Given the description of an element on the screen output the (x, y) to click on. 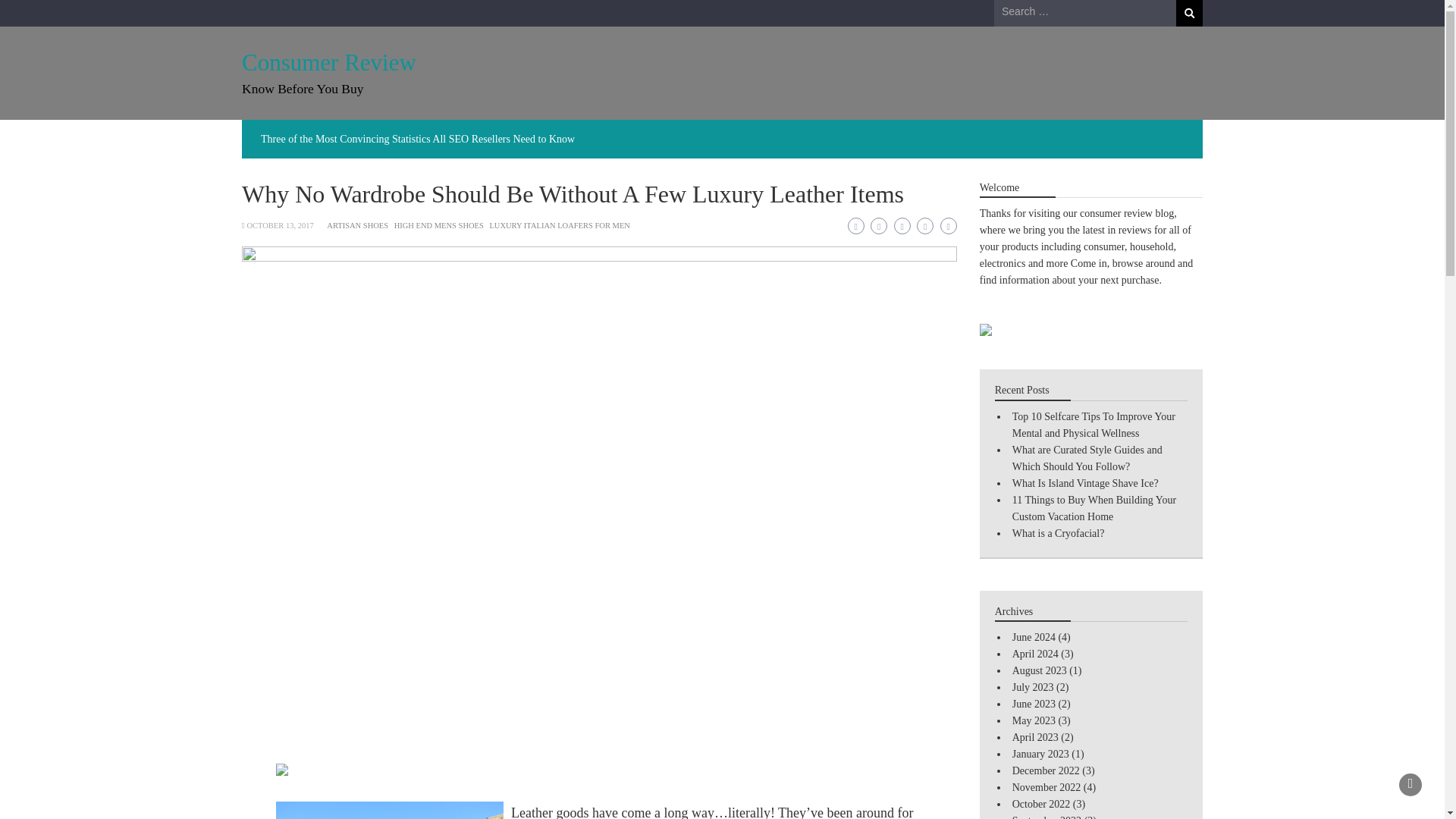
What are Curated Style Guides and Which Should You Follow? (1086, 458)
HIGH END MENS SHOES (438, 225)
Search (1189, 13)
June 2024 (1033, 636)
November 2022 (1046, 787)
August 2023 (1039, 670)
ARTISAN SHOES (357, 225)
January 2023 (1039, 754)
Consumer Review (328, 62)
11 Things to Buy When Building Your Custom Vacation Home (1093, 508)
